Given the description of an element on the screen output the (x, y) to click on. 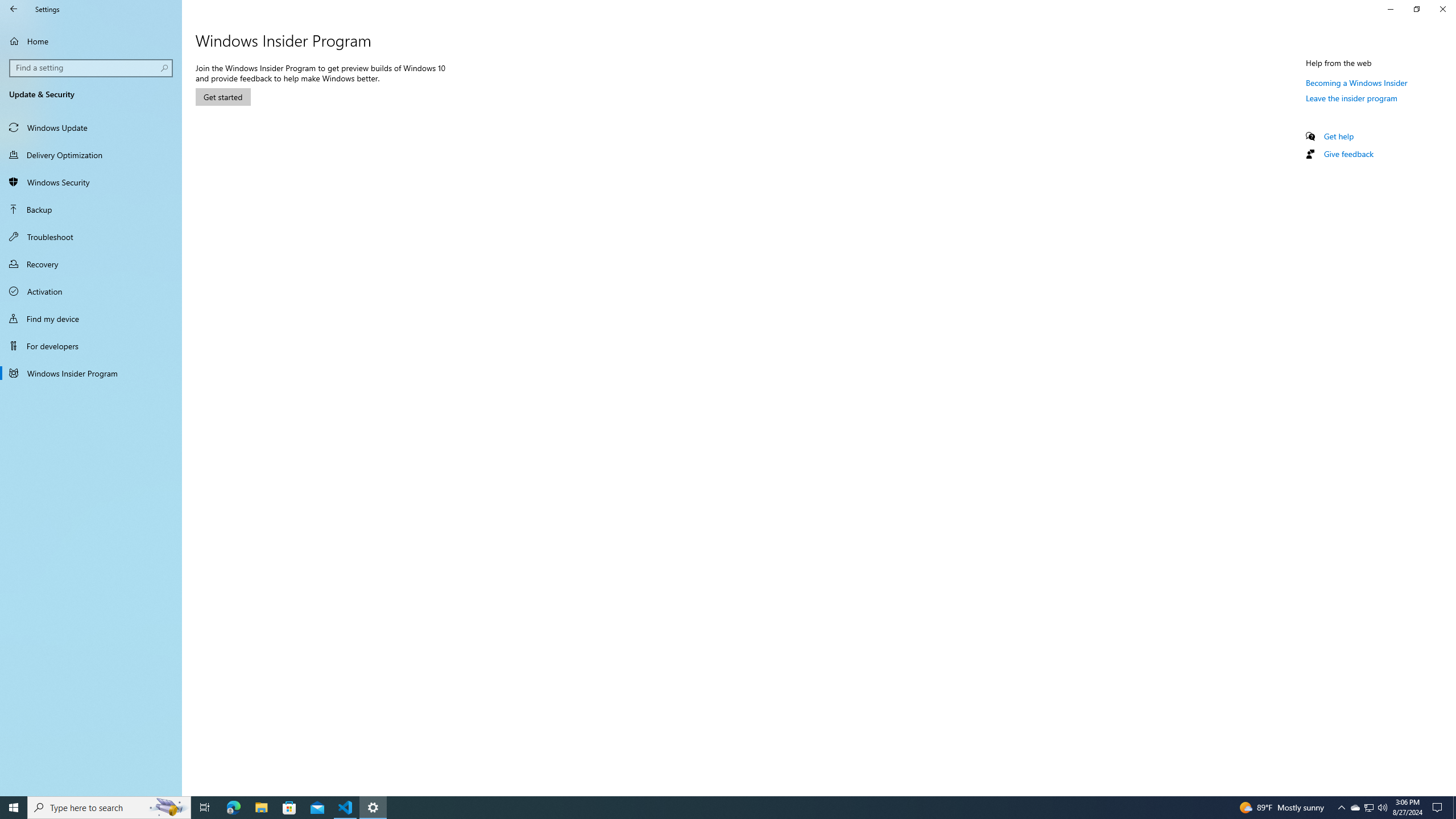
Restore Settings (1416, 9)
Leave the insider program (1351, 97)
Give feedback (1348, 153)
Get started (222, 96)
Delivery Optimization (91, 154)
Windows Insider Program (91, 372)
Backup (91, 208)
